Given the description of an element on the screen output the (x, y) to click on. 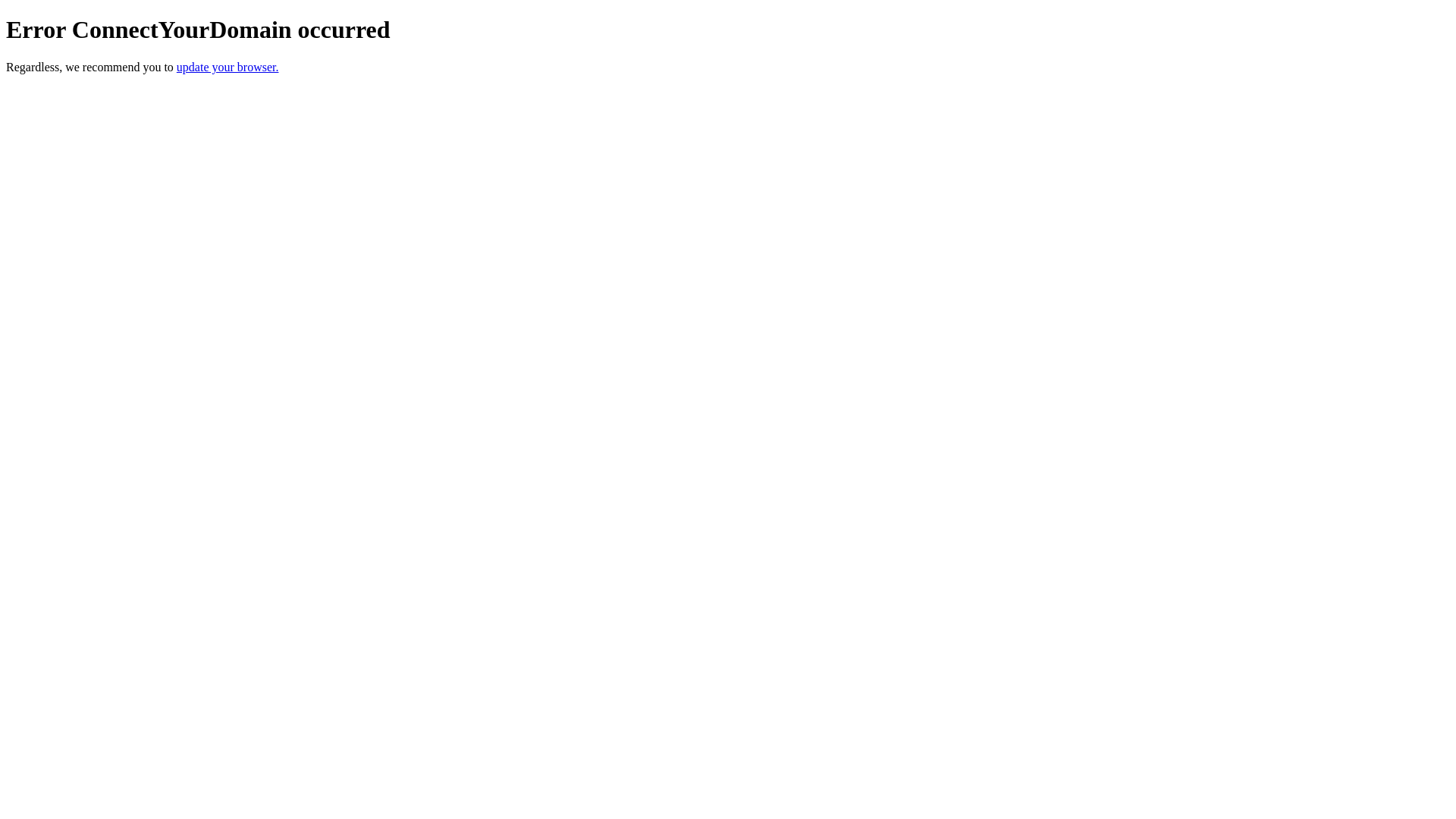
update your browser. Element type: text (227, 66)
